Given the description of an element on the screen output the (x, y) to click on. 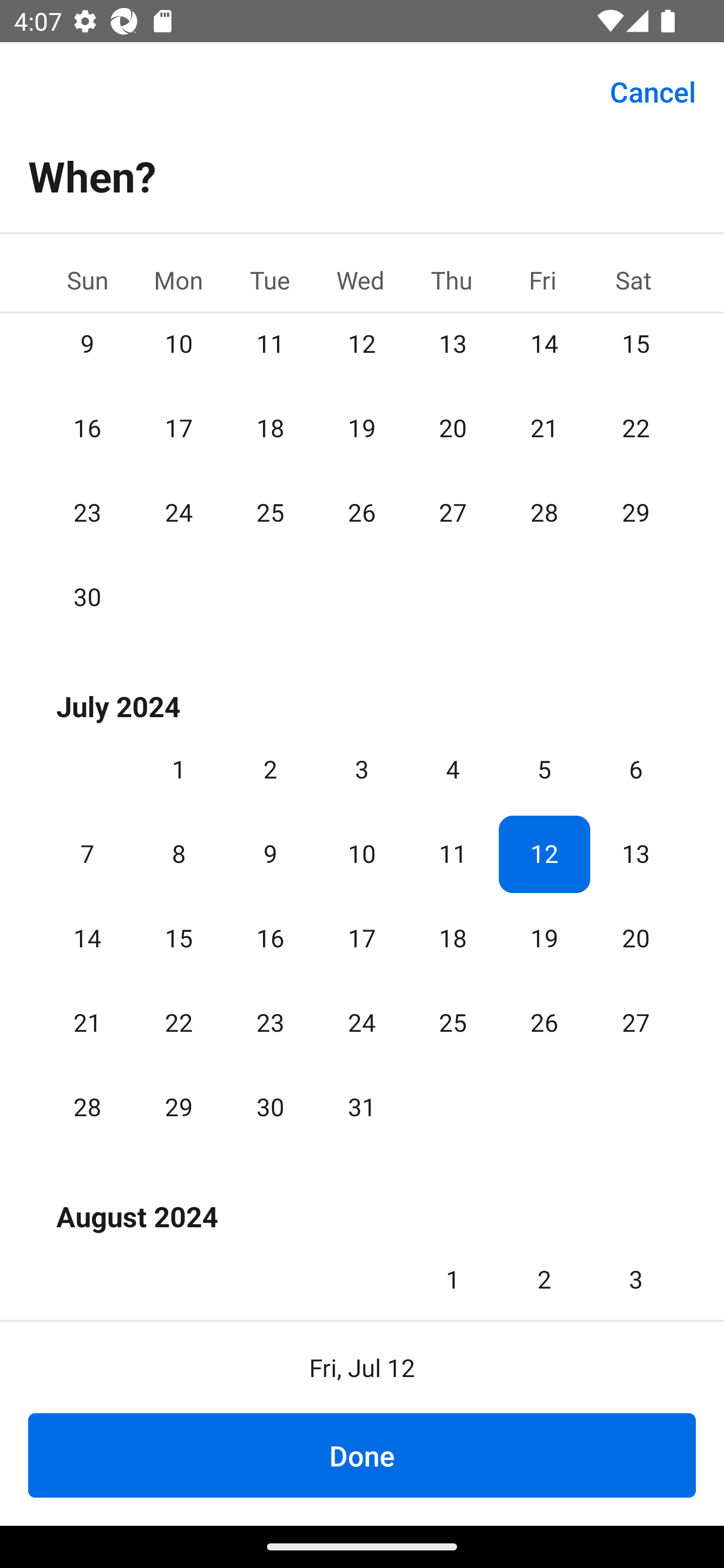
Cancel (652, 90)
Done (361, 1454)
